Given the description of an element on the screen output the (x, y) to click on. 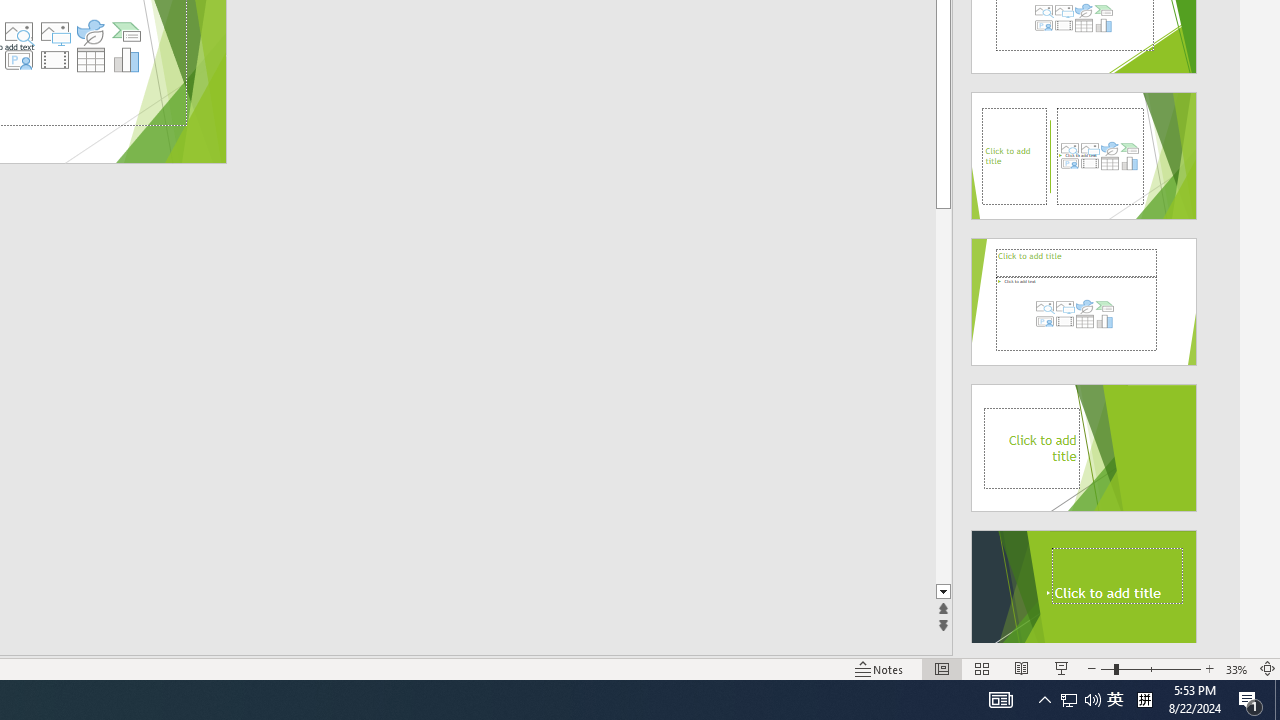
Insert an Icon (91, 32)
Page down (943, 395)
Insert Chart (127, 60)
Insert Video (54, 60)
Insert a SmartArt Graphic (127, 32)
Zoom 33% (1236, 668)
Insert Table (91, 60)
